Given the description of an element on the screen output the (x, y) to click on. 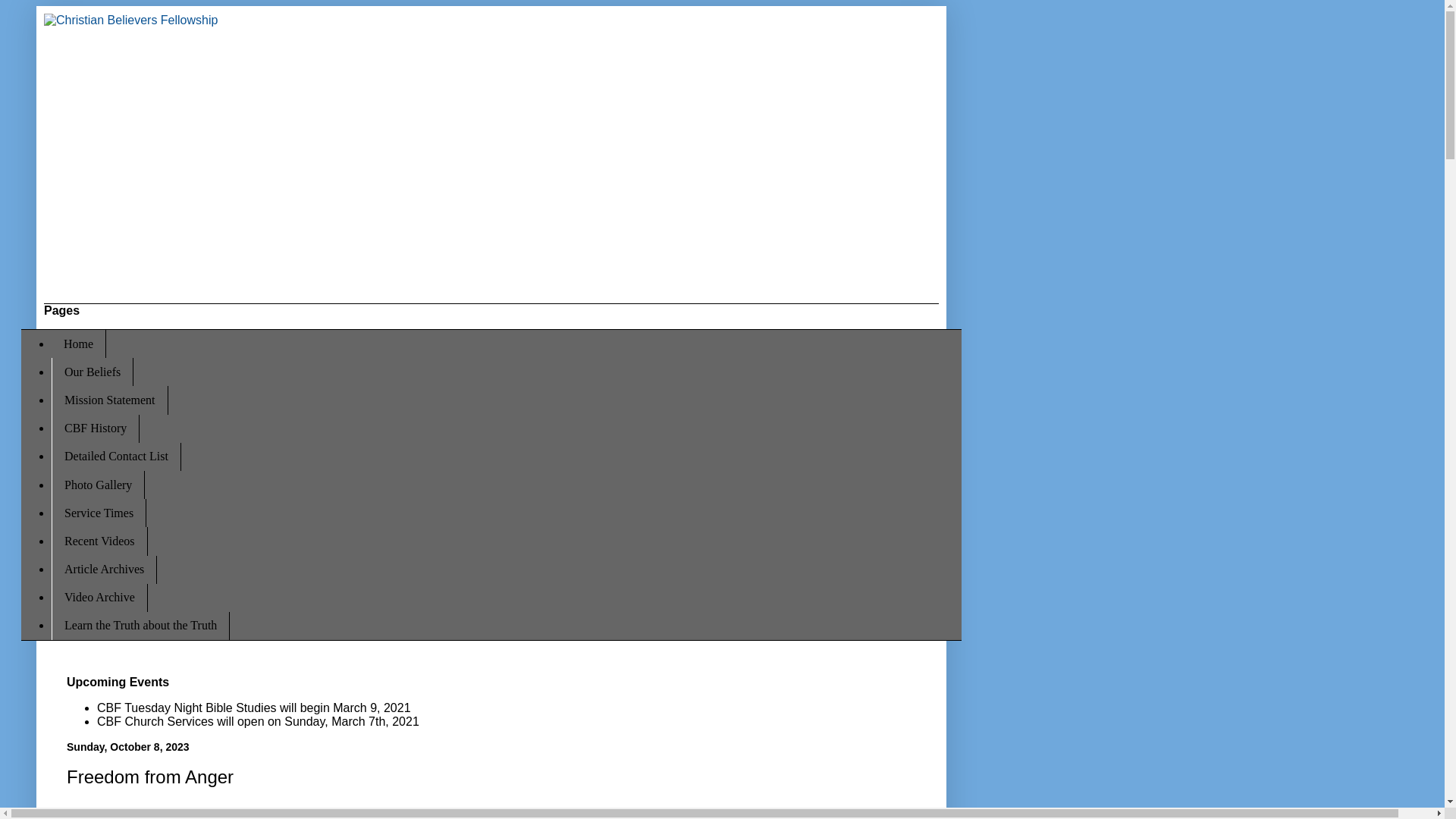
Detailed Contact List (115, 456)
CBF History (94, 428)
Learn the Truth about the Truth (140, 625)
Article Archives (103, 569)
Home (78, 343)
Service Times (98, 512)
Our Beliefs (91, 371)
Video Archive (99, 597)
Mission Statement (109, 399)
Recent Videos (99, 541)
Photo Gallery (97, 484)
